Given the description of an element on the screen output the (x, y) to click on. 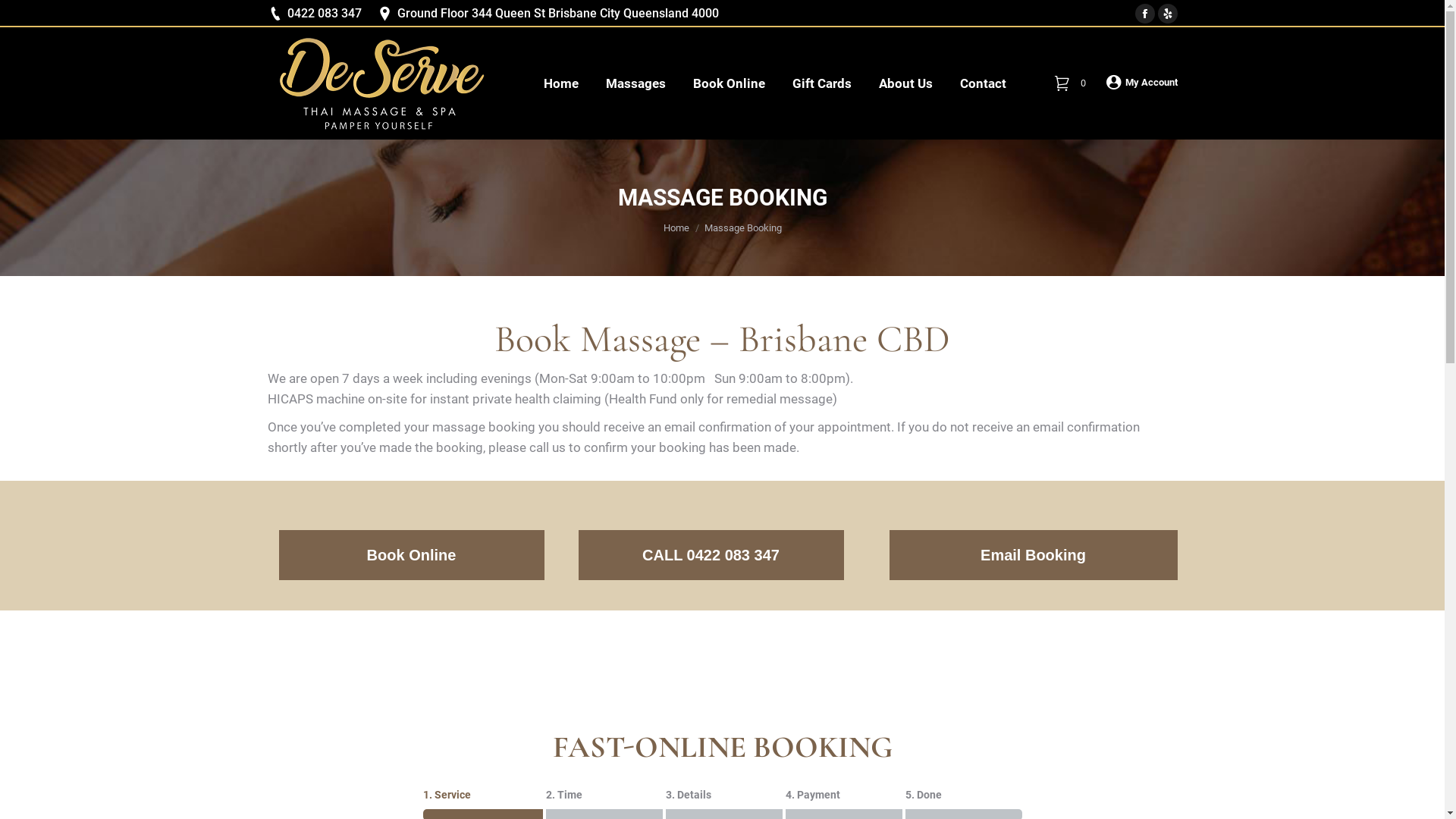
Book Online Element type: text (729, 82)
Book Online Element type: text (411, 555)
Gift Cards Element type: text (820, 82)
Facebook Element type: text (1144, 13)
Home Element type: text (559, 82)
Email Booking Element type: text (1032, 555)
Contact Element type: text (983, 82)
My Account Element type: text (1140, 81)
Home Element type: text (675, 227)
CALL 0422 083 347 Element type: text (710, 555)
Massages Element type: text (635, 82)
About Us Element type: text (905, 82)
Yelp Element type: text (1166, 13)
 0 Element type: text (1072, 83)
